Given the description of an element on the screen output the (x, y) to click on. 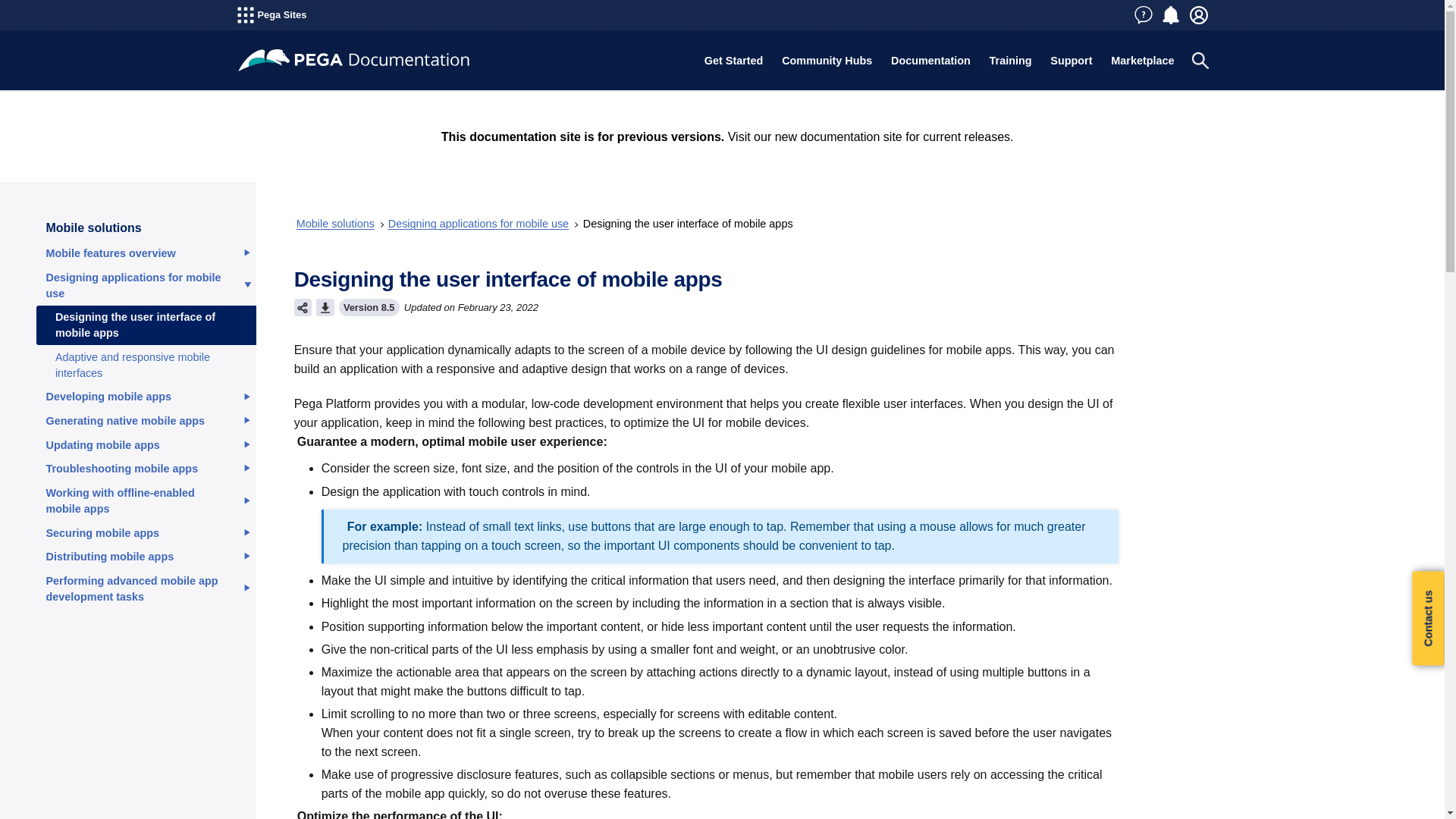
Community Hubs (827, 60)
Get Started (732, 60)
Toggle Search Panel (1200, 60)
